Given the description of an element on the screen output the (x, y) to click on. 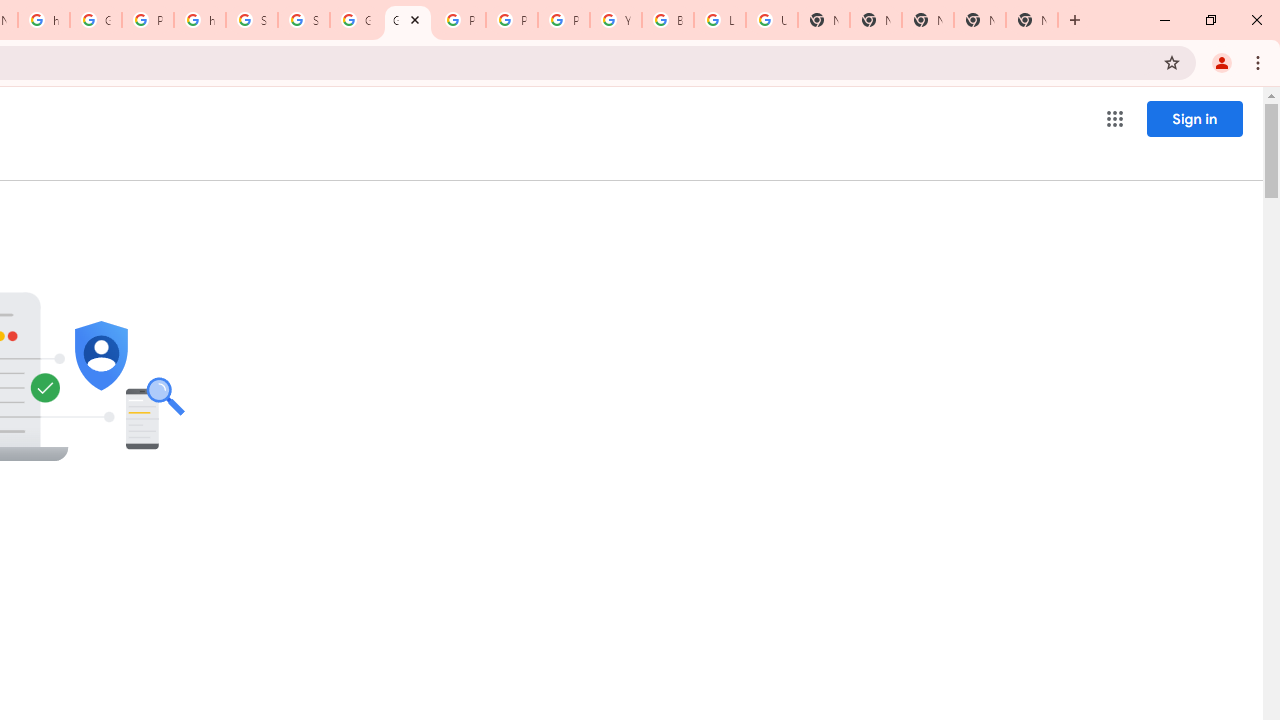
New Tab (1032, 20)
Privacy Help Center - Policies Help (511, 20)
New Tab (875, 20)
Sign in - Google Accounts (303, 20)
https://scholar.google.com/ (43, 20)
Sign in - Google Accounts (251, 20)
